Given the description of an element on the screen output the (x, y) to click on. 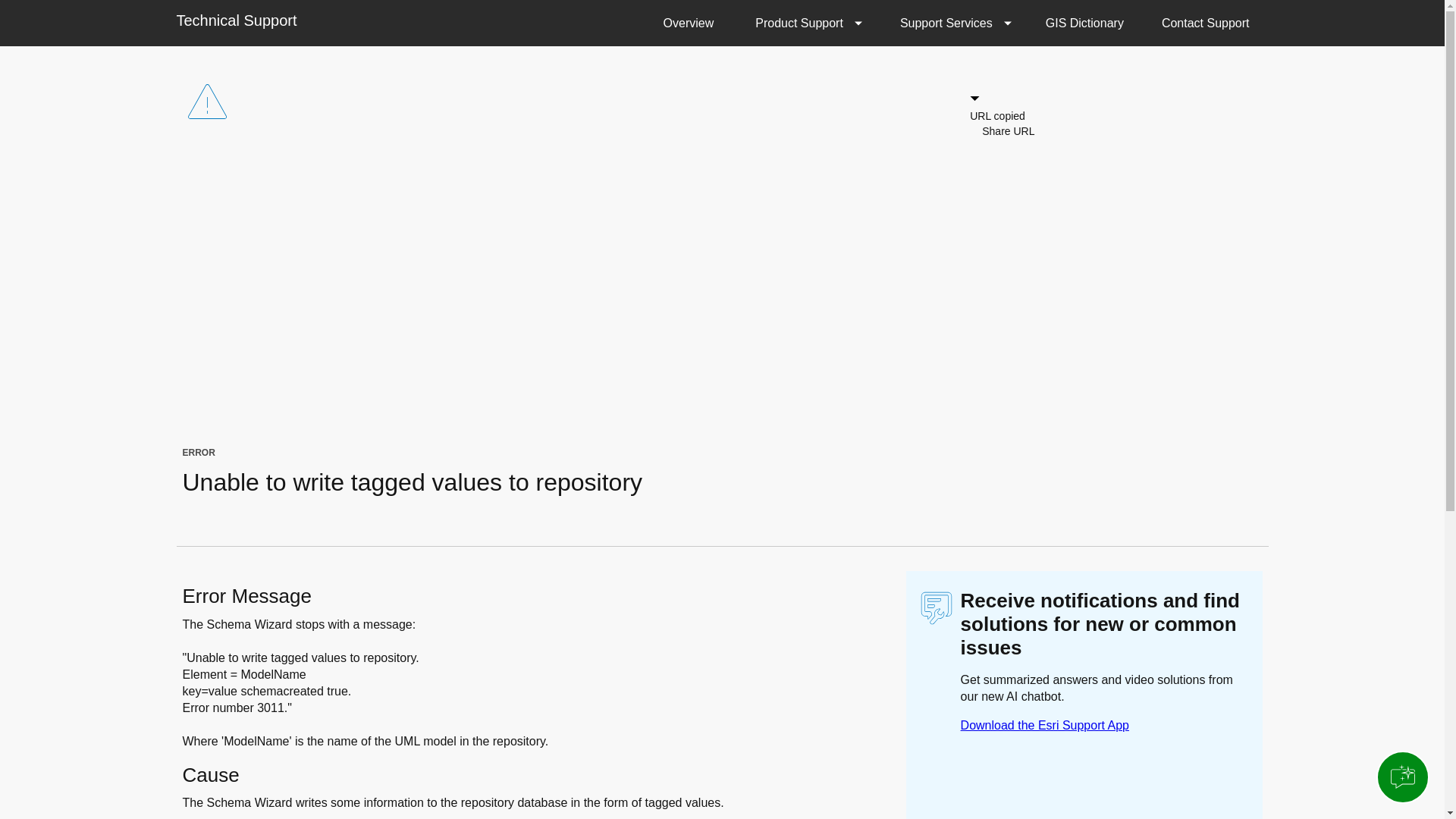
Technical Support (236, 20)
Support Services (951, 22)
GIS Dictionary (1084, 22)
Product Support (804, 22)
Overview (689, 22)
Contact Support (1205, 22)
